Given the description of an element on the screen output the (x, y) to click on. 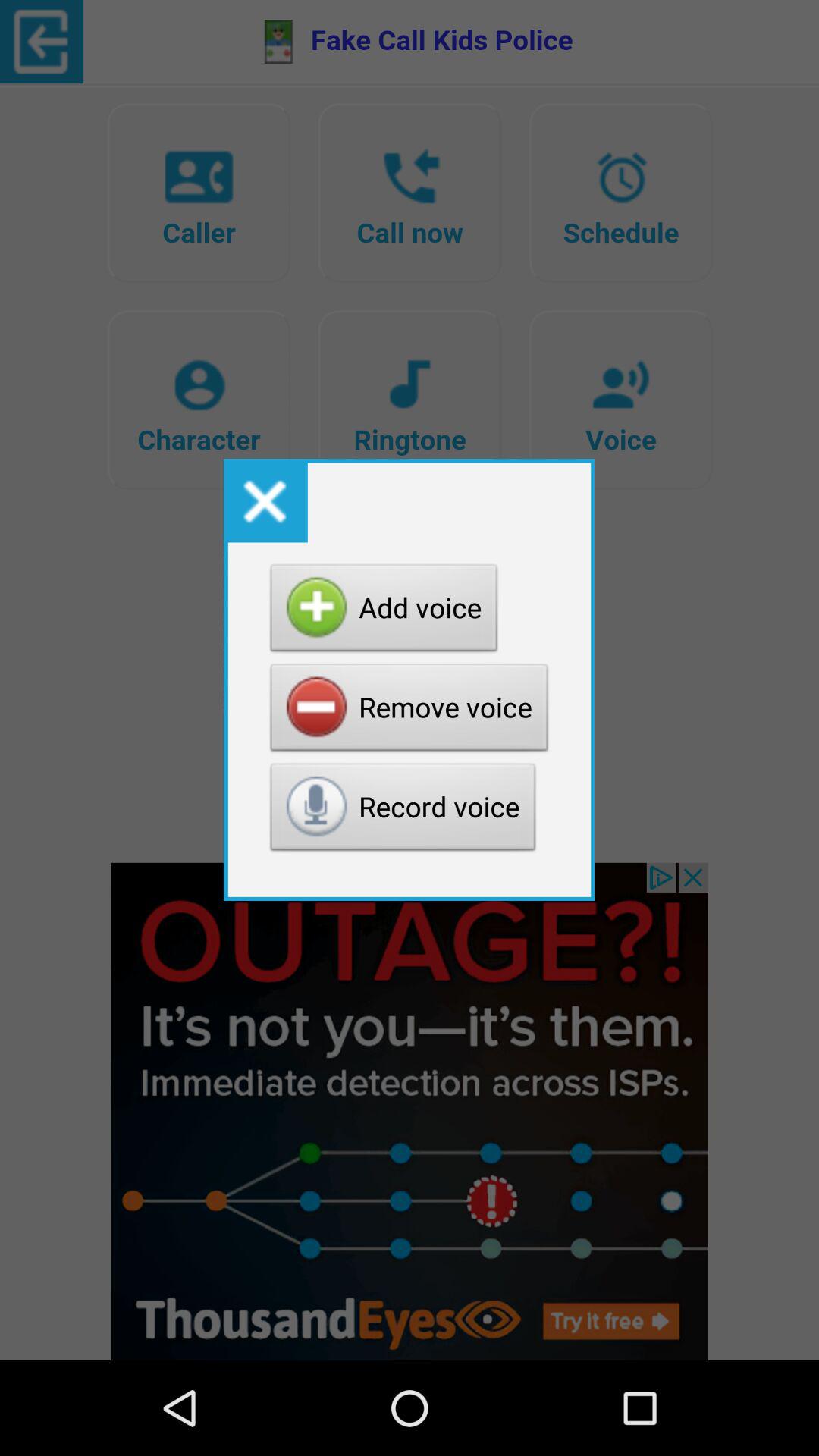
click item above the record voice (409, 711)
